Given the description of an element on the screen output the (x, y) to click on. 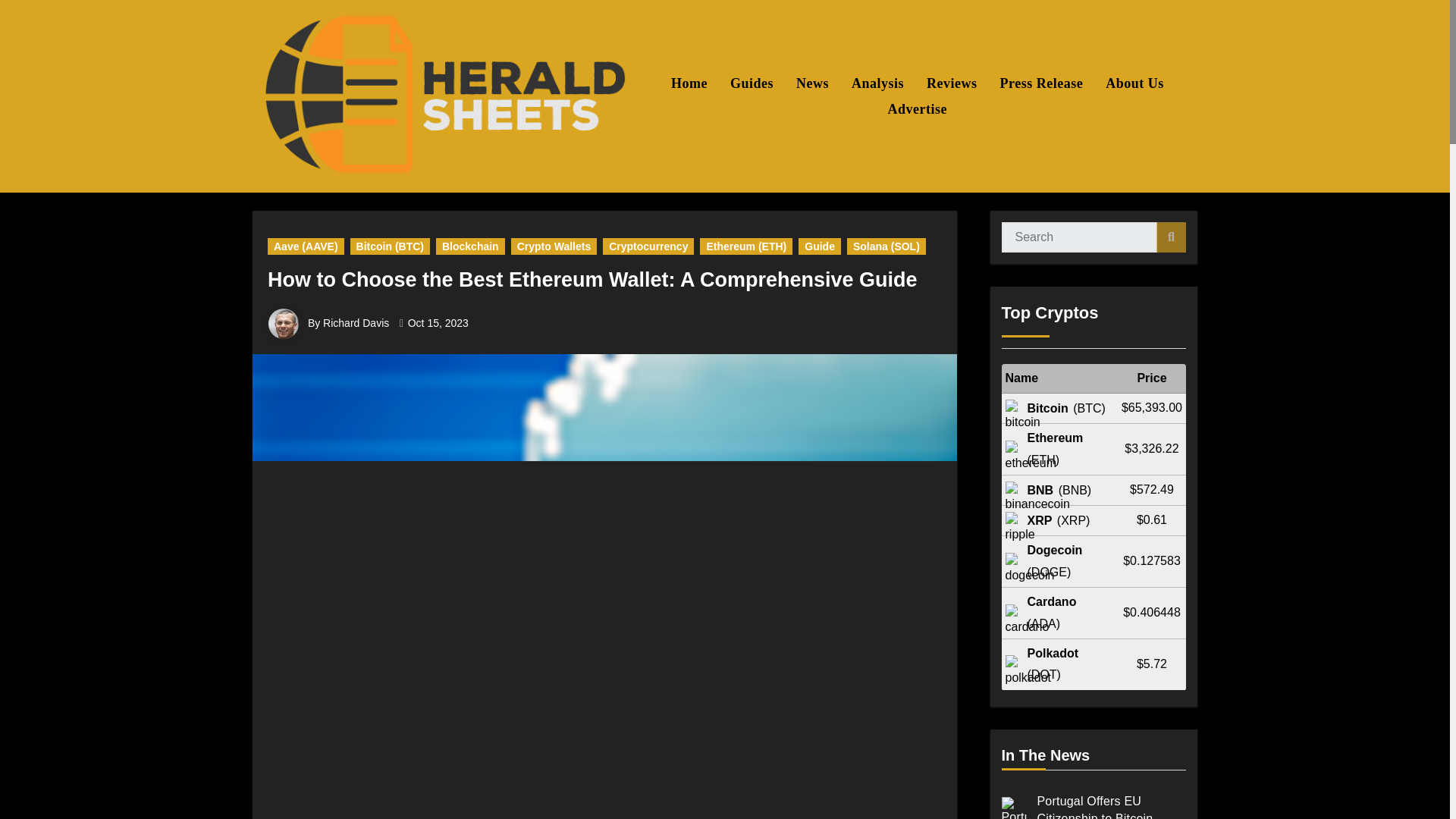
Reviews (951, 83)
Analysis (877, 83)
Analysis (877, 83)
Home (689, 83)
News (812, 83)
About Us (1134, 83)
Guides (751, 83)
Guides (751, 83)
News (812, 83)
Home (689, 83)
Reviews (951, 83)
Press Release (1041, 83)
